Given the description of an element on the screen output the (x, y) to click on. 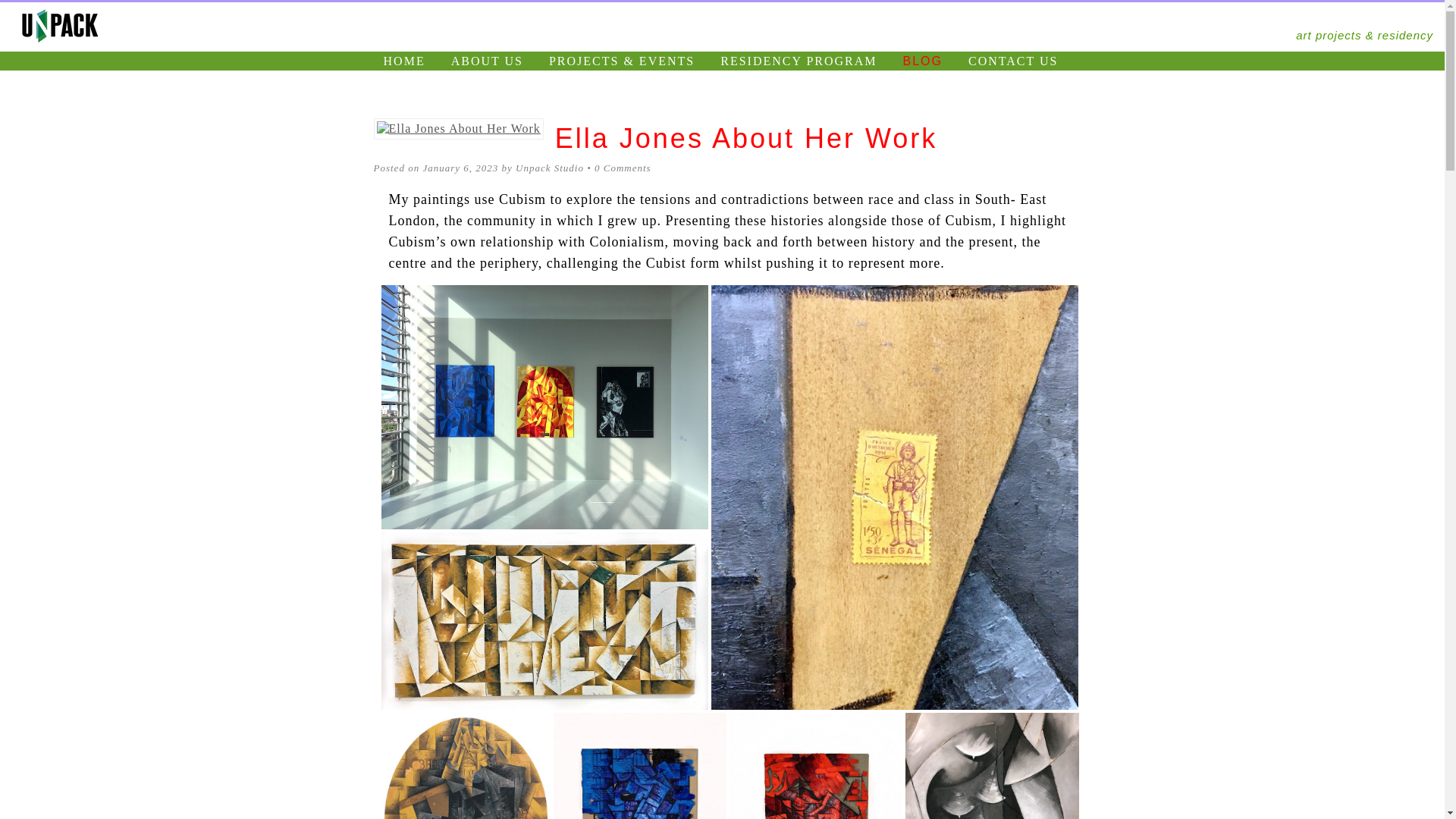
View all posts by Unpack Studio (549, 167)
Unpack Studio (549, 167)
BLOG (922, 60)
RESIDENCY PROGRAM (798, 60)
ABOUT US (486, 60)
CONTACT US (1012, 60)
HOME (404, 60)
UNPACK (737, 20)
0 Comments (622, 167)
